Given the description of an element on the screen output the (x, y) to click on. 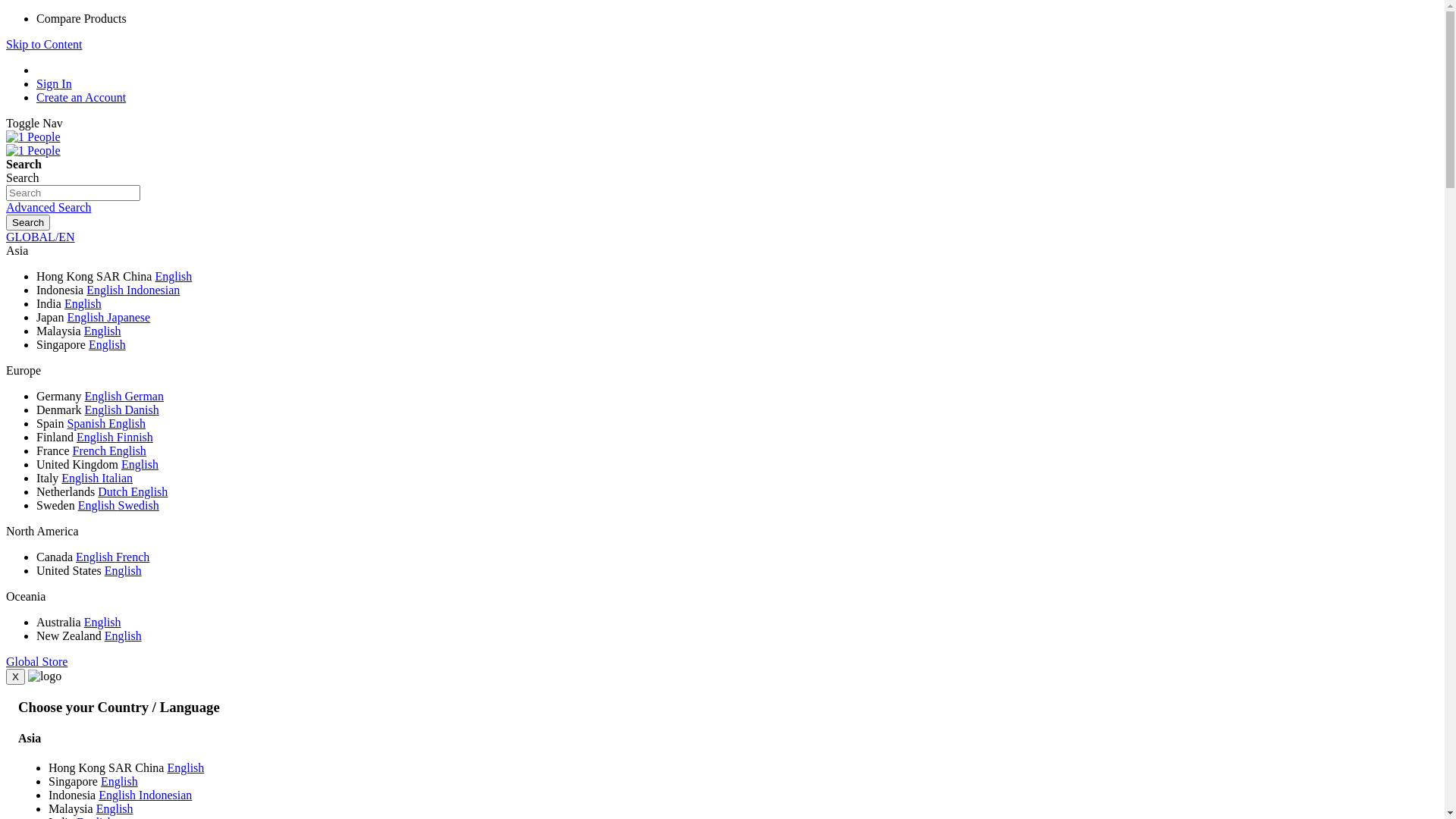
Indonesian Element type: text (152, 289)
French Element type: text (132, 556)
French Element type: text (90, 450)
X Element type: text (15, 676)
English Element type: text (172, 275)
Create an Account Element type: text (80, 97)
English Element type: text (139, 464)
English Element type: text (122, 570)
English Element type: text (96, 436)
English Element type: text (102, 330)
Swedish Element type: text (138, 504)
English Element type: text (118, 794)
1 People Element type: hover (33, 137)
Dutch Element type: text (113, 491)
1 People Element type: hover (33, 136)
English Element type: text (98, 504)
Italian Element type: text (116, 477)
English Element type: text (102, 621)
Skip to Content Element type: text (43, 43)
English Element type: text (184, 767)
English Element type: text (122, 635)
1 People Element type: hover (33, 150)
GLOBAL/EN Element type: text (40, 236)
Finnish Element type: text (134, 436)
Global Store Element type: text (36, 661)
Indonesian Element type: text (164, 794)
1 People Element type: hover (33, 150)
English Element type: text (104, 395)
English Element type: text (126, 423)
English Element type: text (127, 450)
Danish Element type: text (141, 409)
Advanced Search Element type: text (48, 206)
German Element type: text (143, 395)
English Element type: text (95, 556)
English Element type: text (119, 781)
English Element type: text (82, 303)
English Element type: text (81, 477)
English Element type: text (86, 316)
English Element type: text (106, 289)
Japanese Element type: text (128, 316)
English Element type: text (104, 409)
Sign In Element type: text (54, 83)
English Element type: text (114, 808)
Spanish Element type: text (87, 423)
English Element type: text (148, 491)
Compare Products Element type: text (81, 18)
English Element type: text (106, 344)
Search Element type: text (28, 222)
